Given the description of an element on the screen output the (x, y) to click on. 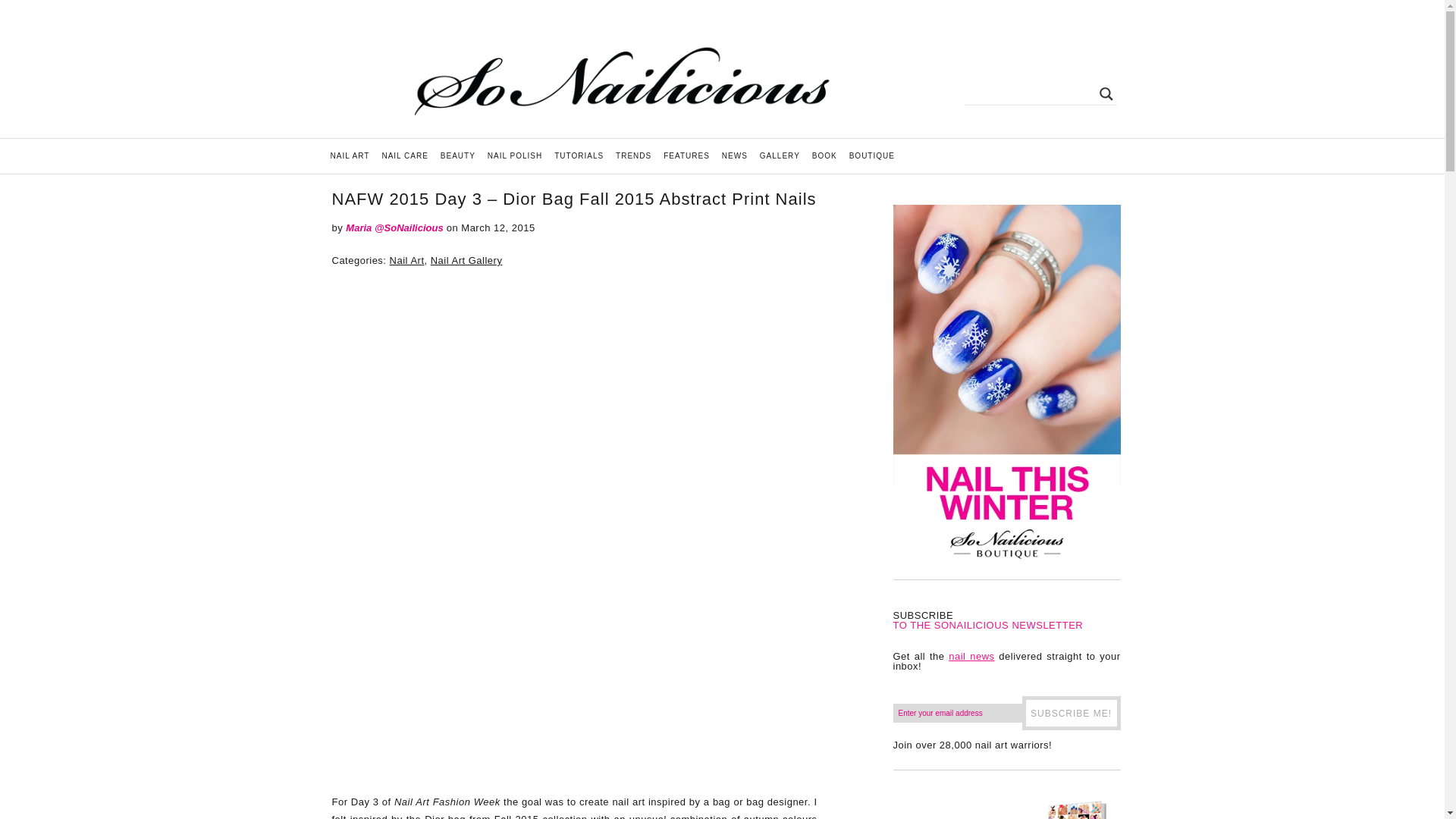
Nail Art Gallery (466, 260)
Subscribe Me! (1071, 713)
Nail Art (407, 260)
NAIL CARE (404, 155)
Beauty and Makeup Tips (457, 155)
BOUTIQUE (872, 155)
FEATURES (687, 155)
Nail Art Tutorials (579, 155)
News and Evens (735, 155)
Reviews, Swatches, Top 5 (514, 155)
SONAILICIOUS (619, 86)
BOOK (824, 155)
GALLERY (780, 155)
Nail Care (404, 155)
TUTORIALS (579, 155)
